Given the description of an element on the screen output the (x, y) to click on. 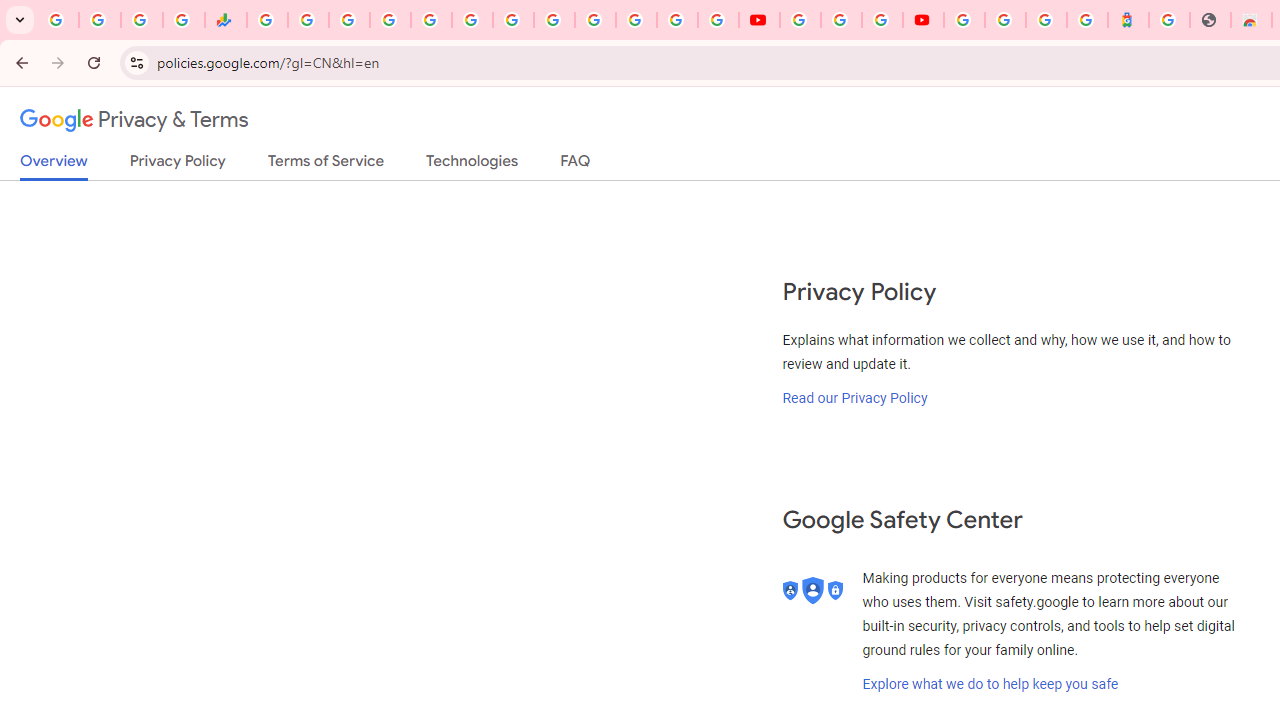
Sign in - Google Accounts (1005, 20)
Google Account Help (840, 20)
Sign in - Google Accounts (964, 20)
YouTube (799, 20)
Android TV Policies and Guidelines - Transparency Center (512, 20)
Read our Privacy Policy (855, 397)
